Given the description of an element on the screen output the (x, y) to click on. 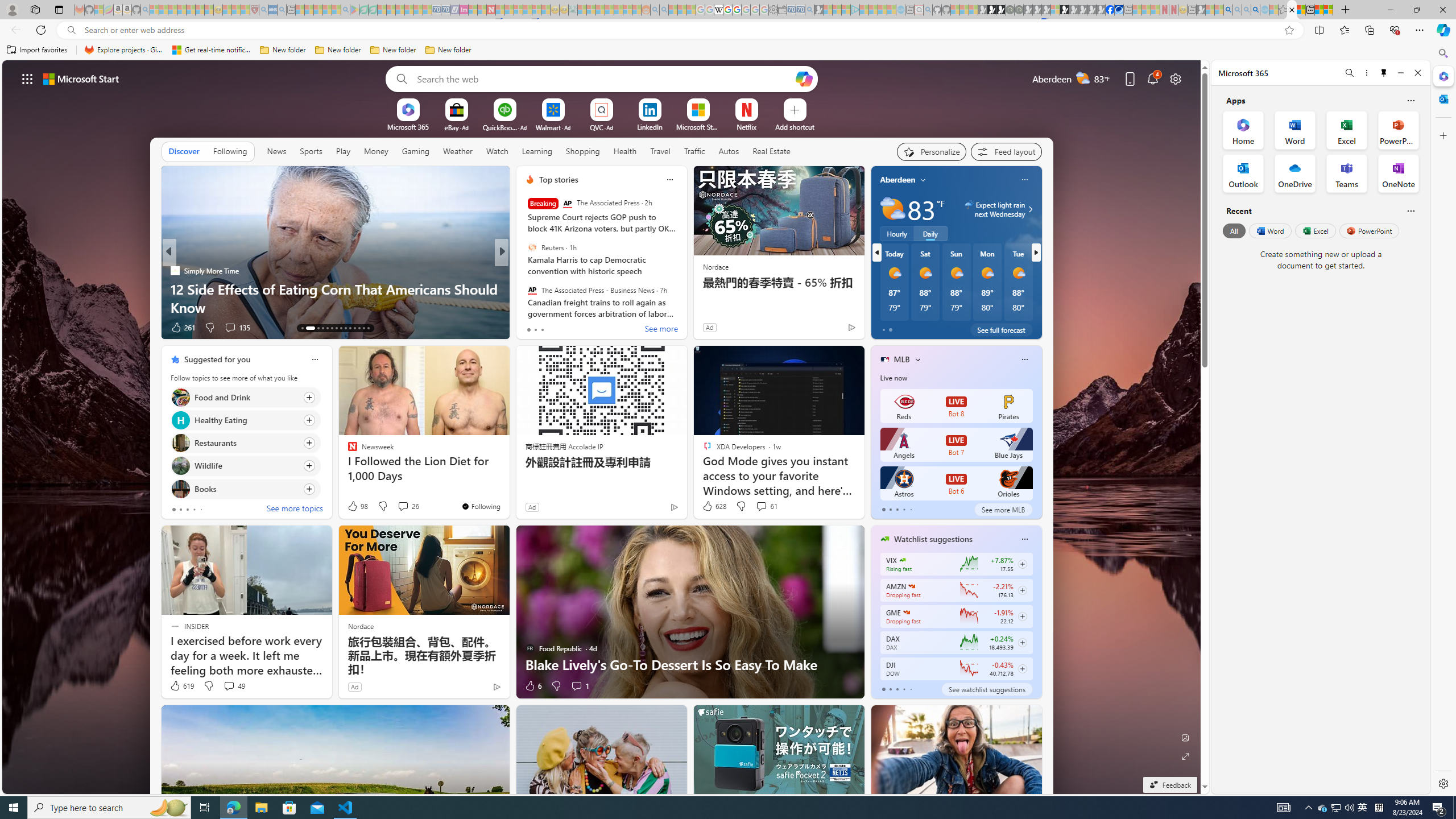
Robert H. Shmerling, MD - Harvard Health - Sleeping (253, 9)
98 Like (357, 505)
Expand background (1185, 756)
Real Estate (771, 151)
Side bar (1443, 418)
Traffic (694, 151)
tab-3 (903, 689)
NCL Adult Asthma Inhaler Choice Guideline - Sleeping (272, 9)
Easy pasta dinner trick is so yummy (684, 307)
Close Customize pane (1442, 135)
Privacy Help Center - Policies Help (726, 9)
